Given the description of an element on the screen output the (x, y) to click on. 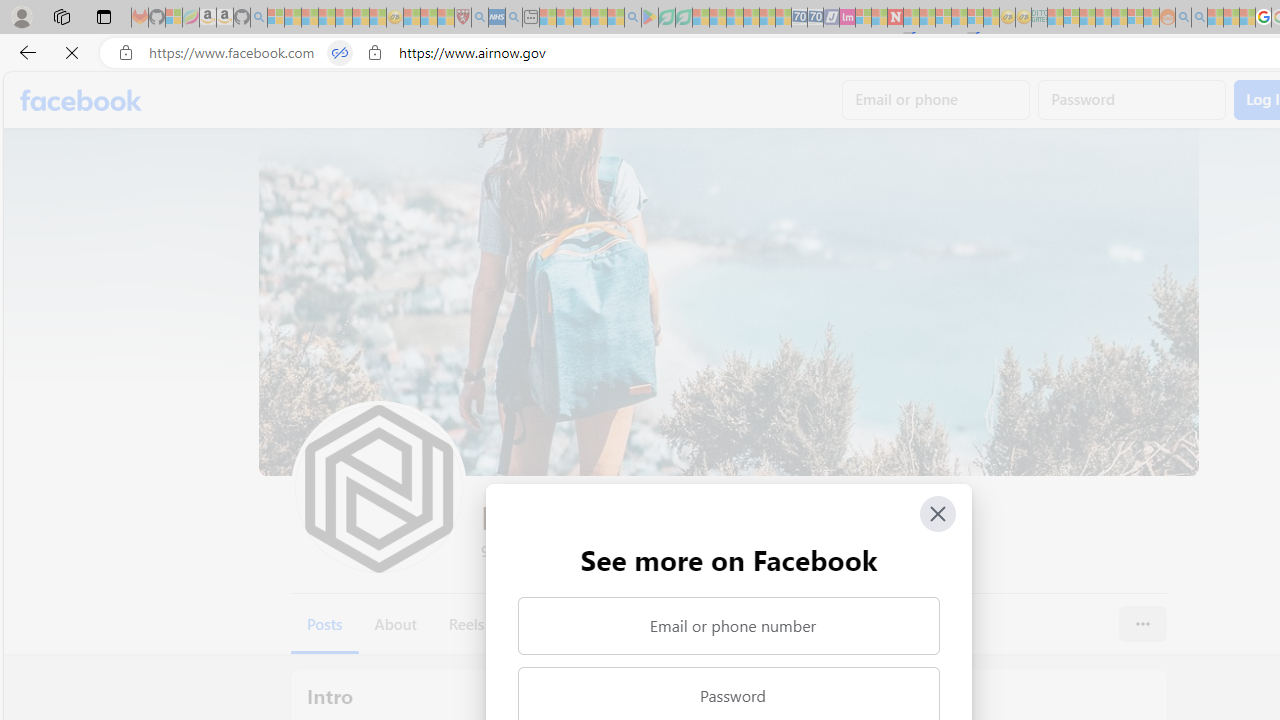
Microsoft-Report a Concern to Bing - Sleeping (173, 17)
Email or phone (936, 99)
Pets - MSN - Sleeping (598, 17)
